Given the description of an element on the screen output the (x, y) to click on. 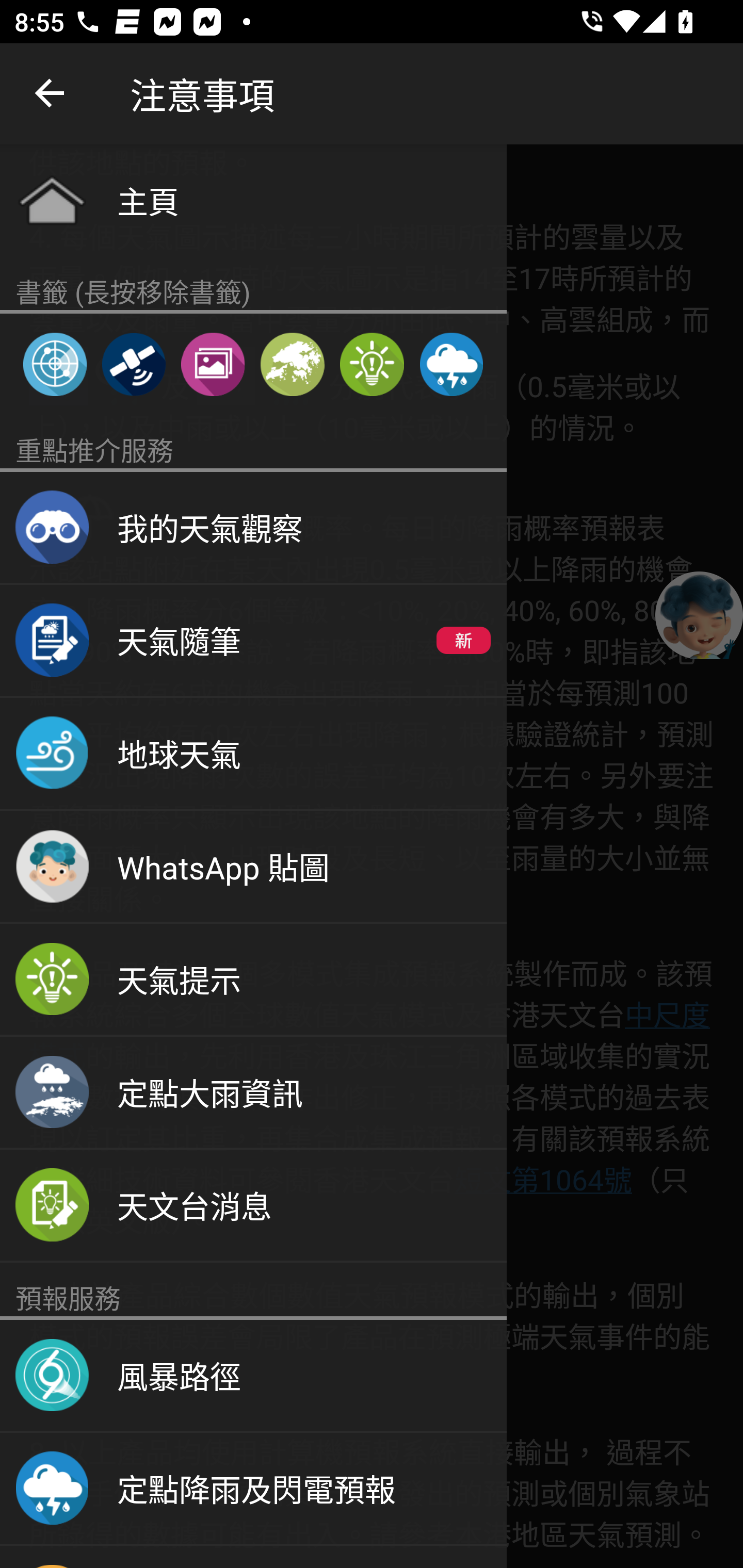
向上瀏覽 (50, 93)
主頁 (253, 199)
雷達圖像 (54, 364)
衛星圖像 (133, 364)
天氣照片 (212, 364)
分區天氣 (292, 364)
天氣提示 (371, 364)
定點降雨及閃電預報 (451, 364)
我的天氣觀察 (253, 527)
天氣隨筆 新功能 (253, 640)
地球天氣 (253, 753)
WhatsApp 貼圖 (253, 866)
天氣提示 (253, 979)
定點大雨資訊 (253, 1092)
天文台消息 (253, 1205)
風暴路徑 (253, 1375)
定點降雨及閃電預報 (253, 1488)
